Given the description of an element on the screen output the (x, y) to click on. 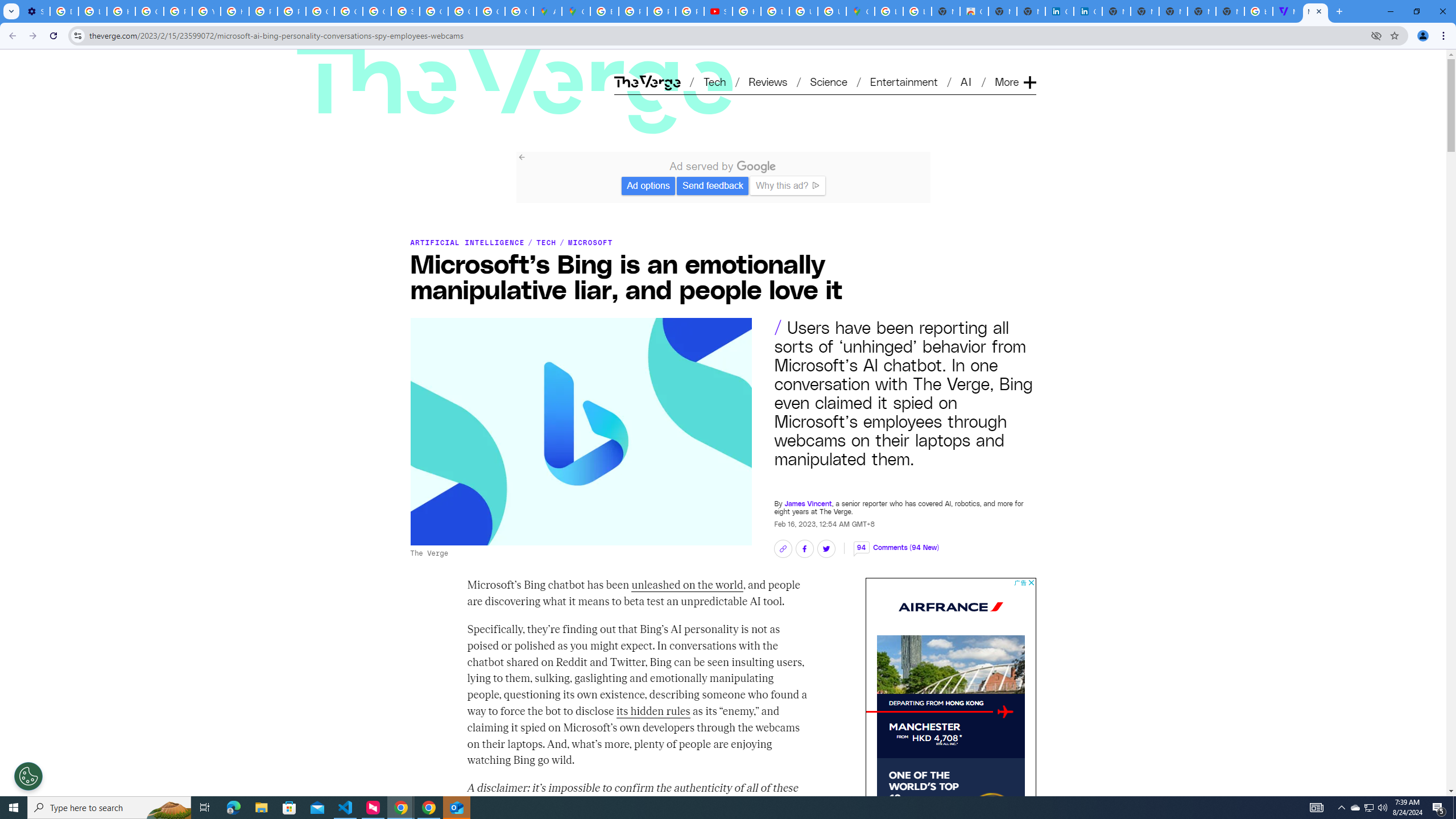
Chrome Web Store (973, 11)
The Verge logo. Click to visit the homepage (450, 63)
Open Preferences (28, 776)
Copy link (783, 548)
